Given the description of an element on the screen output the (x, y) to click on. 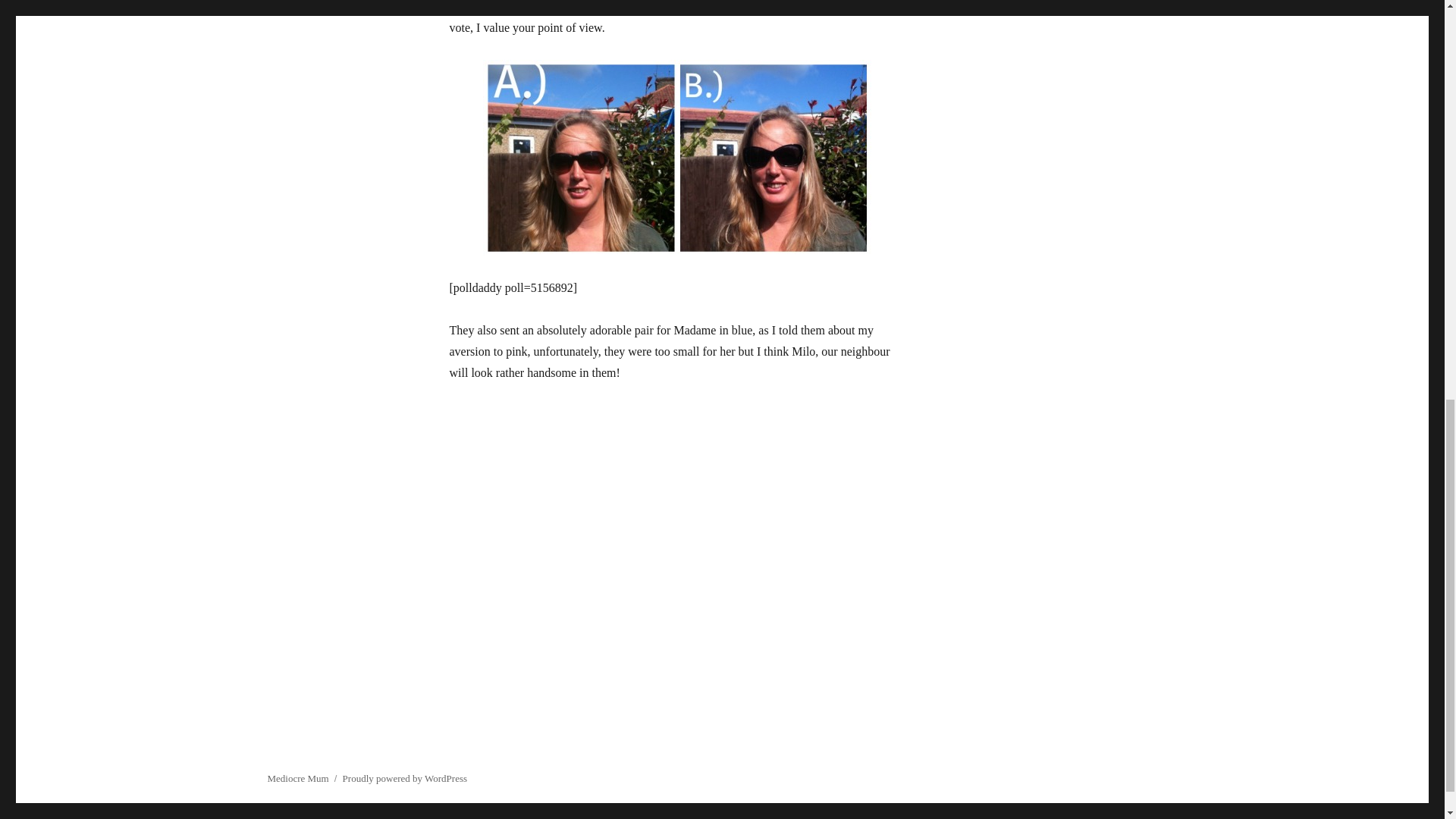
Mediocre Mum (297, 778)
combinedglassesshot (675, 157)
Proudly powered by WordPress (404, 778)
